Given the description of an element on the screen output the (x, y) to click on. 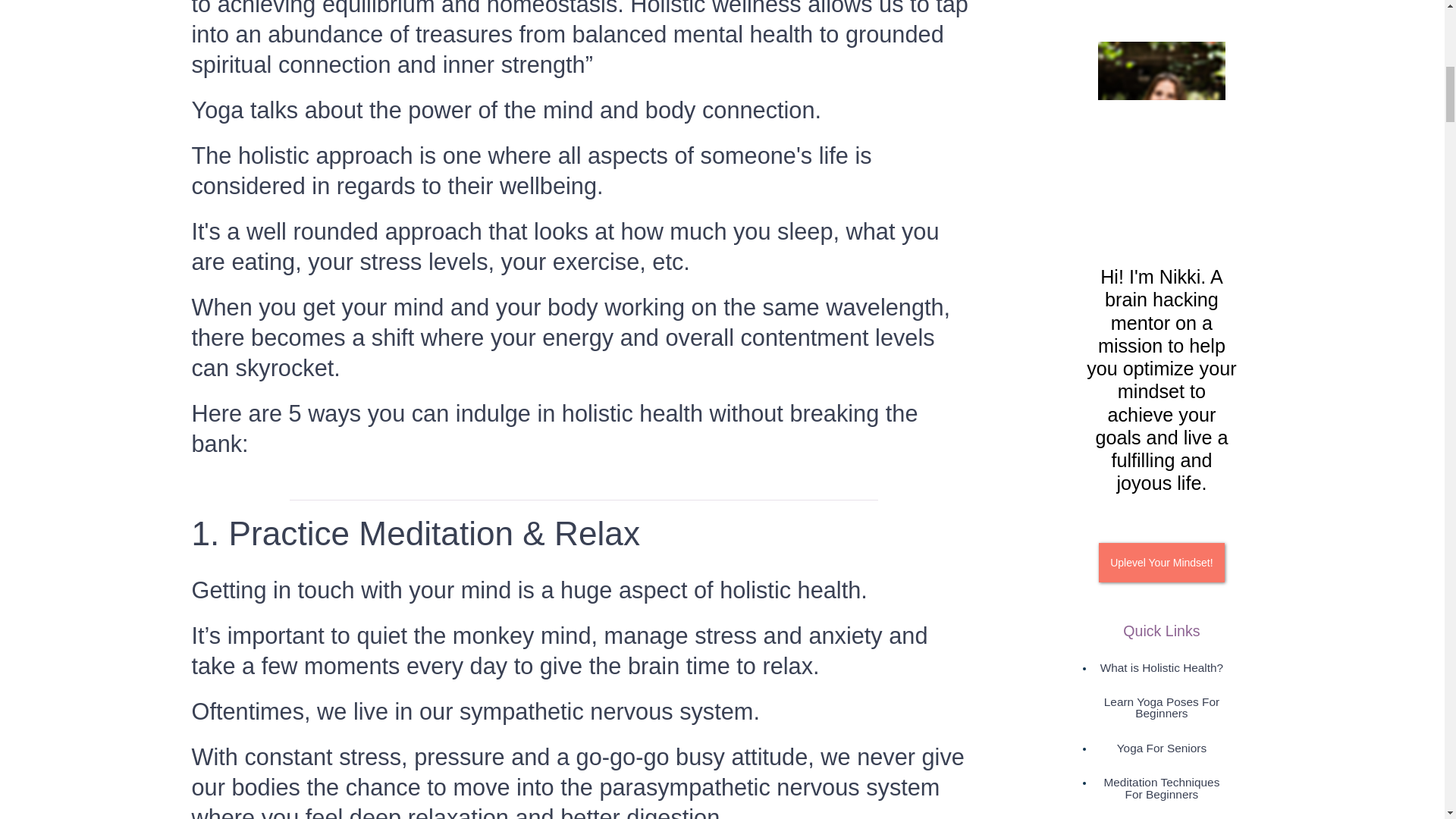
Learn Yoga Poses For Beginners (1161, 313)
Meditation Techniques For Beginners (1161, 393)
Yoga (1161, 575)
Uplevel Your Mindset! (1161, 168)
Yoga For Seniors (1161, 353)
Meditation (1161, 669)
What is Holistic Health? (1161, 273)
Travel (1161, 763)
